Given the description of an element on the screen output the (x, y) to click on. 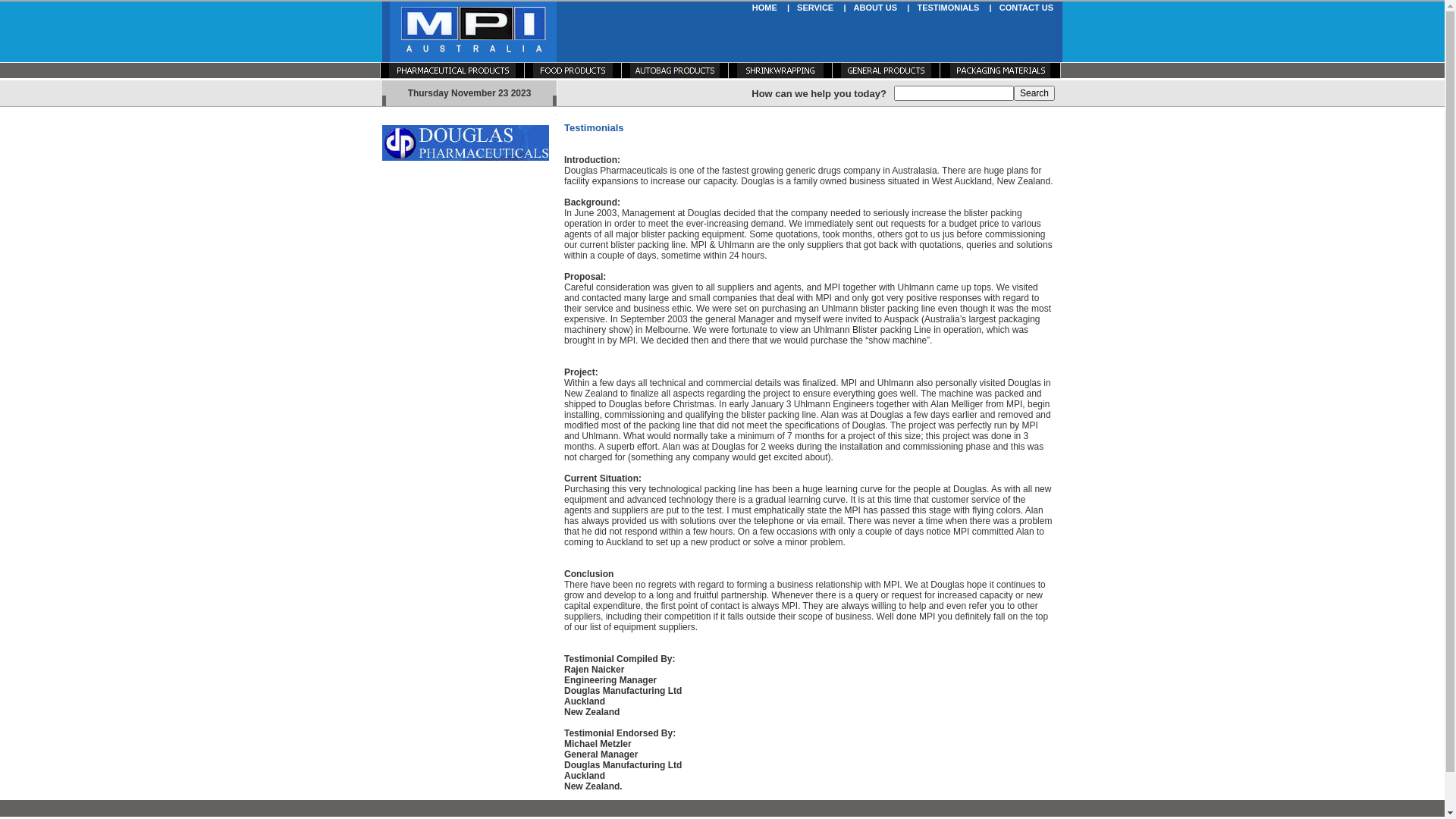
Search Element type: text (1033, 92)
SERVICE Element type: text (815, 7)
CONTACT US Element type: text (1026, 7)
ABOUT US Element type: text (875, 7)
HOME Element type: text (764, 7)
TESTIMONIALS Element type: text (947, 7)
